Given the description of an element on the screen output the (x, y) to click on. 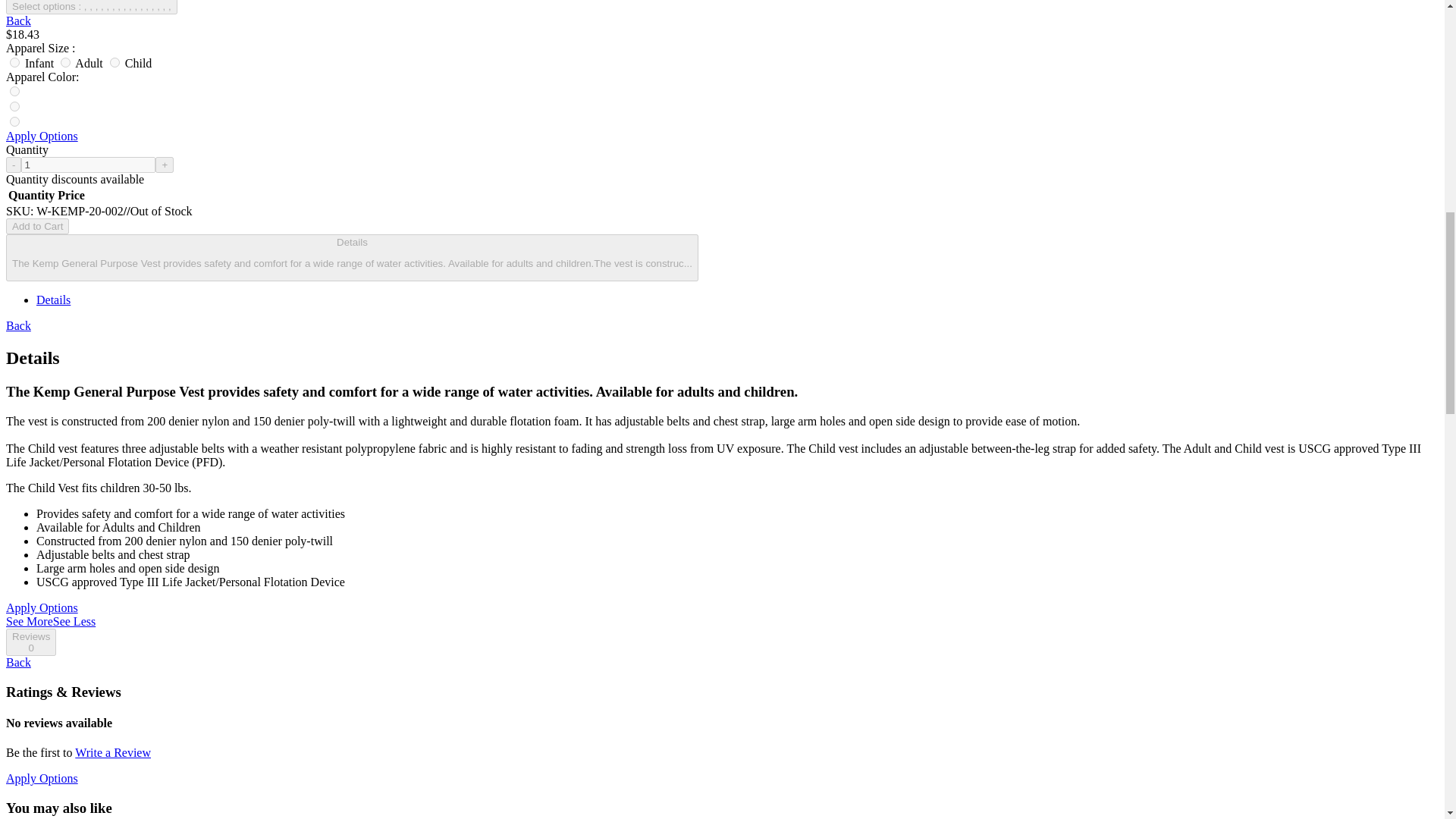
786 (15, 121)
1704 (15, 62)
968 (15, 91)
1 (88, 164)
1719 (65, 62)
931 (15, 106)
1720 (114, 62)
